Given the description of an element on the screen output the (x, y) to click on. 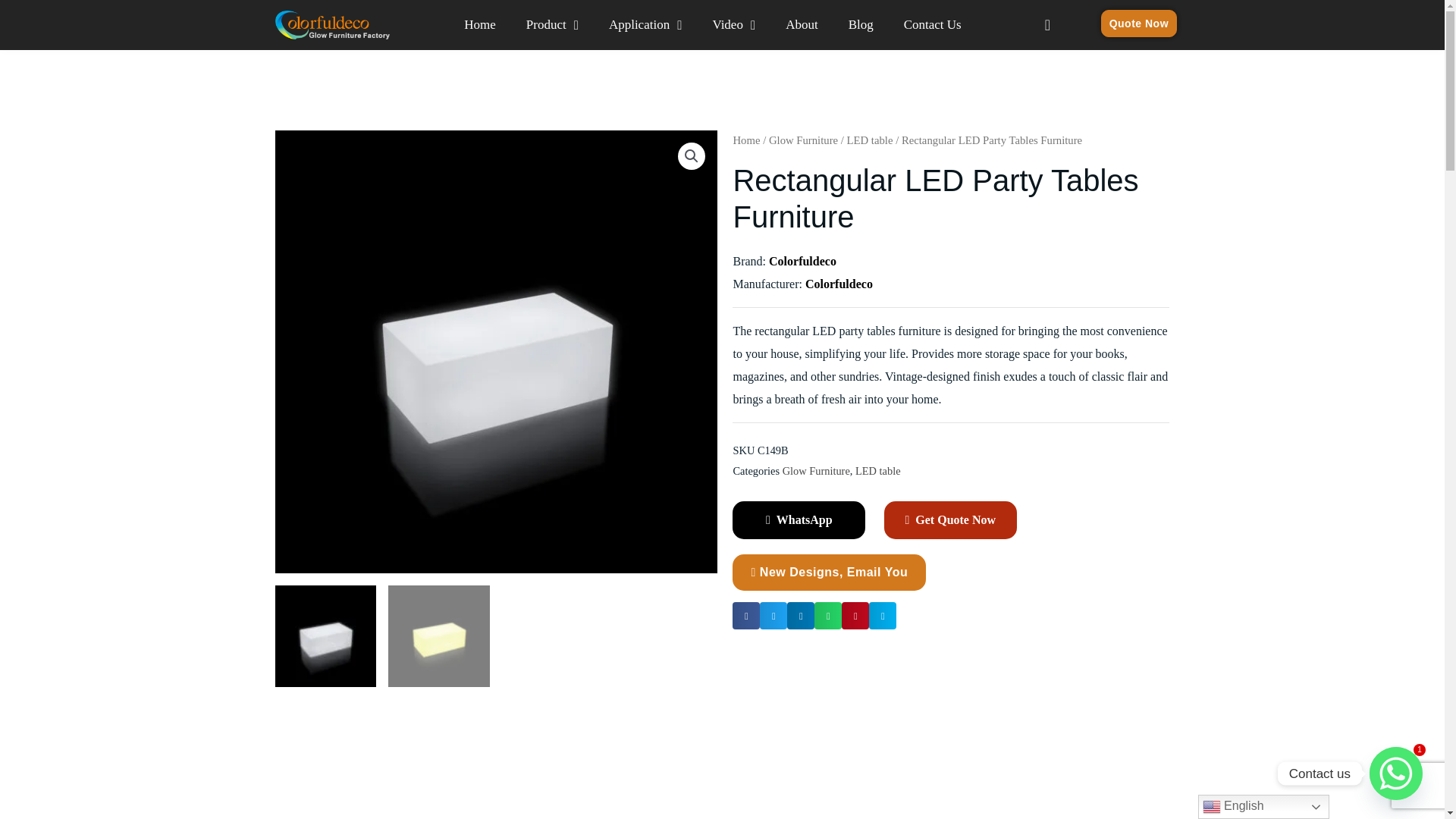
Home (479, 24)
Product (552, 24)
Application (645, 24)
